Given the description of an element on the screen output the (x, y) to click on. 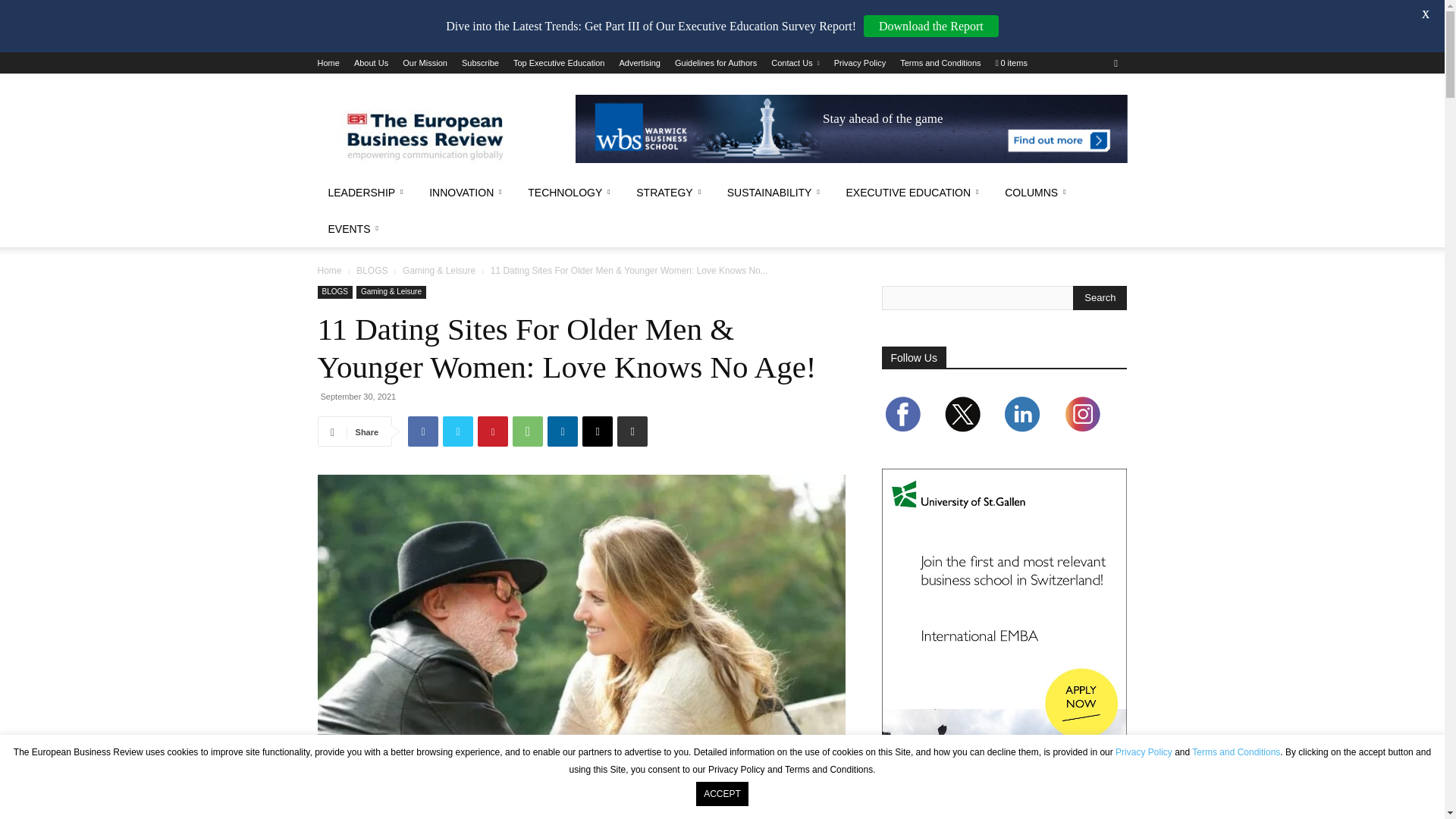
Facebook (422, 431)
Pinterest (492, 431)
View all posts in BLOGS (371, 270)
Innovation (467, 192)
Start shopping (1011, 62)
Search (1099, 297)
advertisement (850, 128)
Twitter (457, 431)
WhatsApp (527, 431)
